Given the description of an element on the screen output the (x, y) to click on. 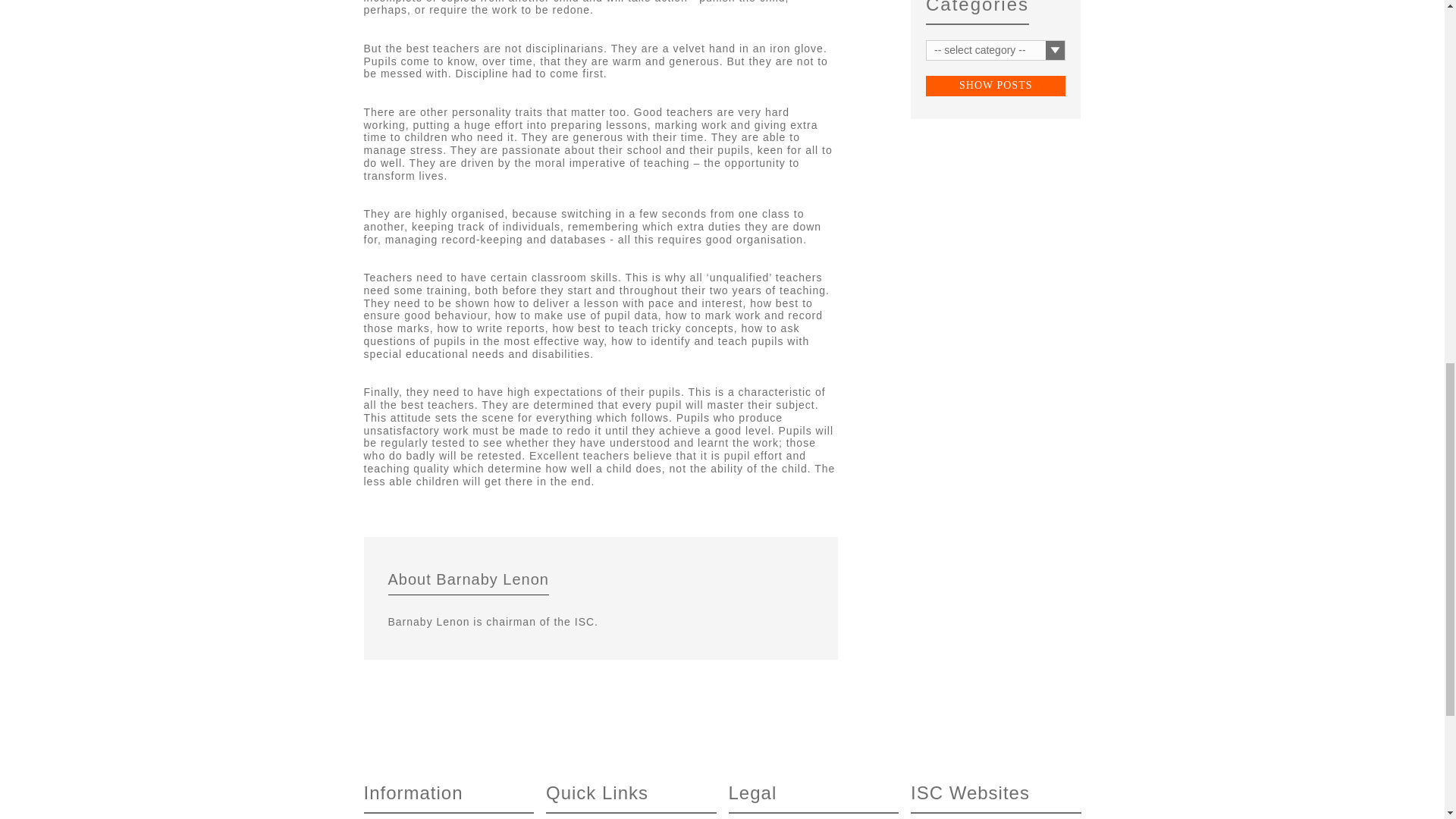
Show Posts (995, 86)
